Given the description of an element on the screen output the (x, y) to click on. 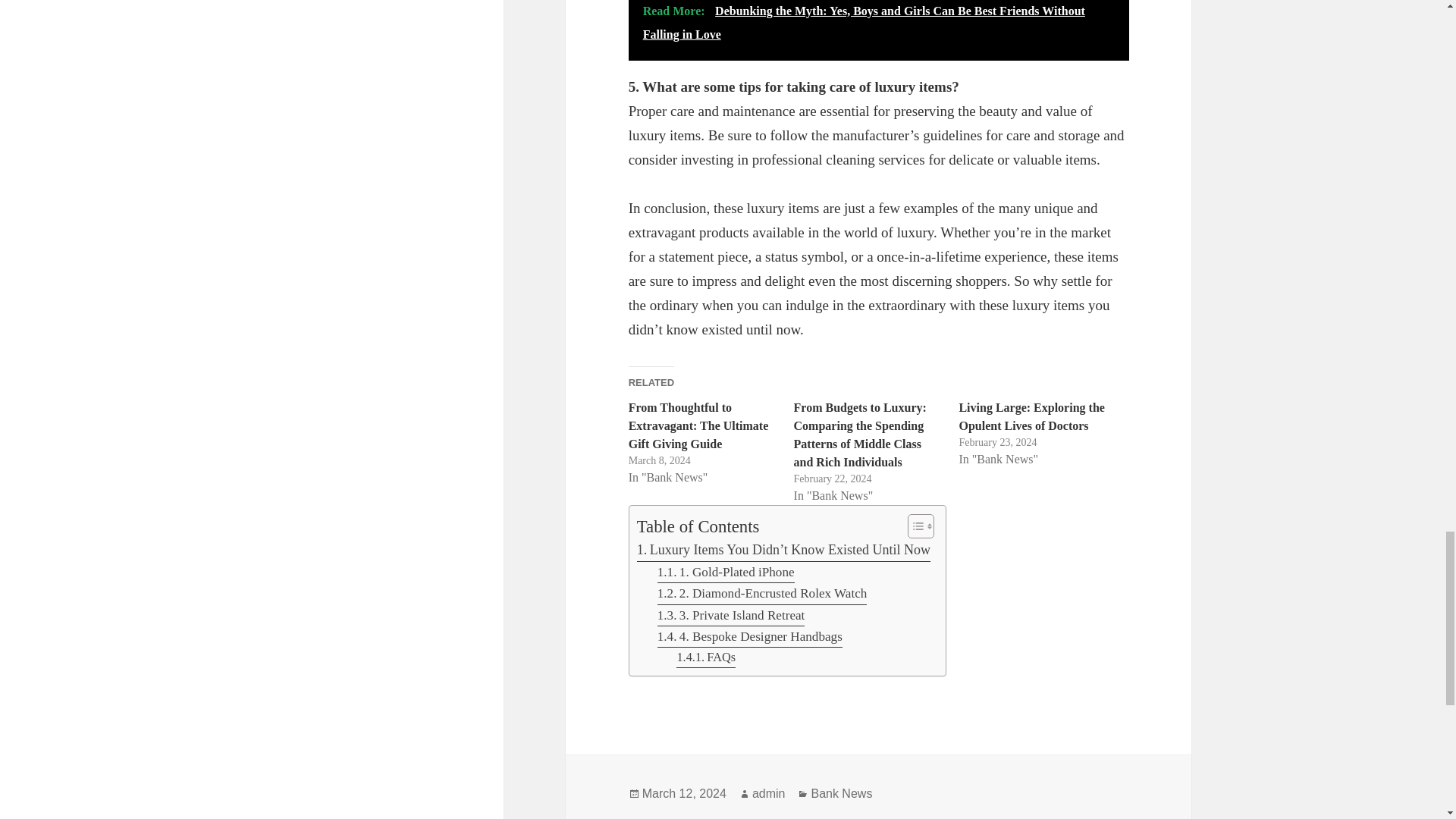
FAQs (706, 657)
3. Private Island Retreat (731, 615)
Living Large: Exploring the Opulent Lives of Doctors (1030, 416)
1. Gold-Plated iPhone (726, 572)
4. Bespoke Designer Handbags (750, 636)
admin (769, 793)
4. Bespoke Designer Handbags (750, 636)
3. Private Island Retreat (731, 615)
Living Large: Exploring the Opulent Lives of Doctors (1030, 416)
Bank News (841, 793)
1. Gold-Plated iPhone (726, 572)
